Given the description of an element on the screen output the (x, y) to click on. 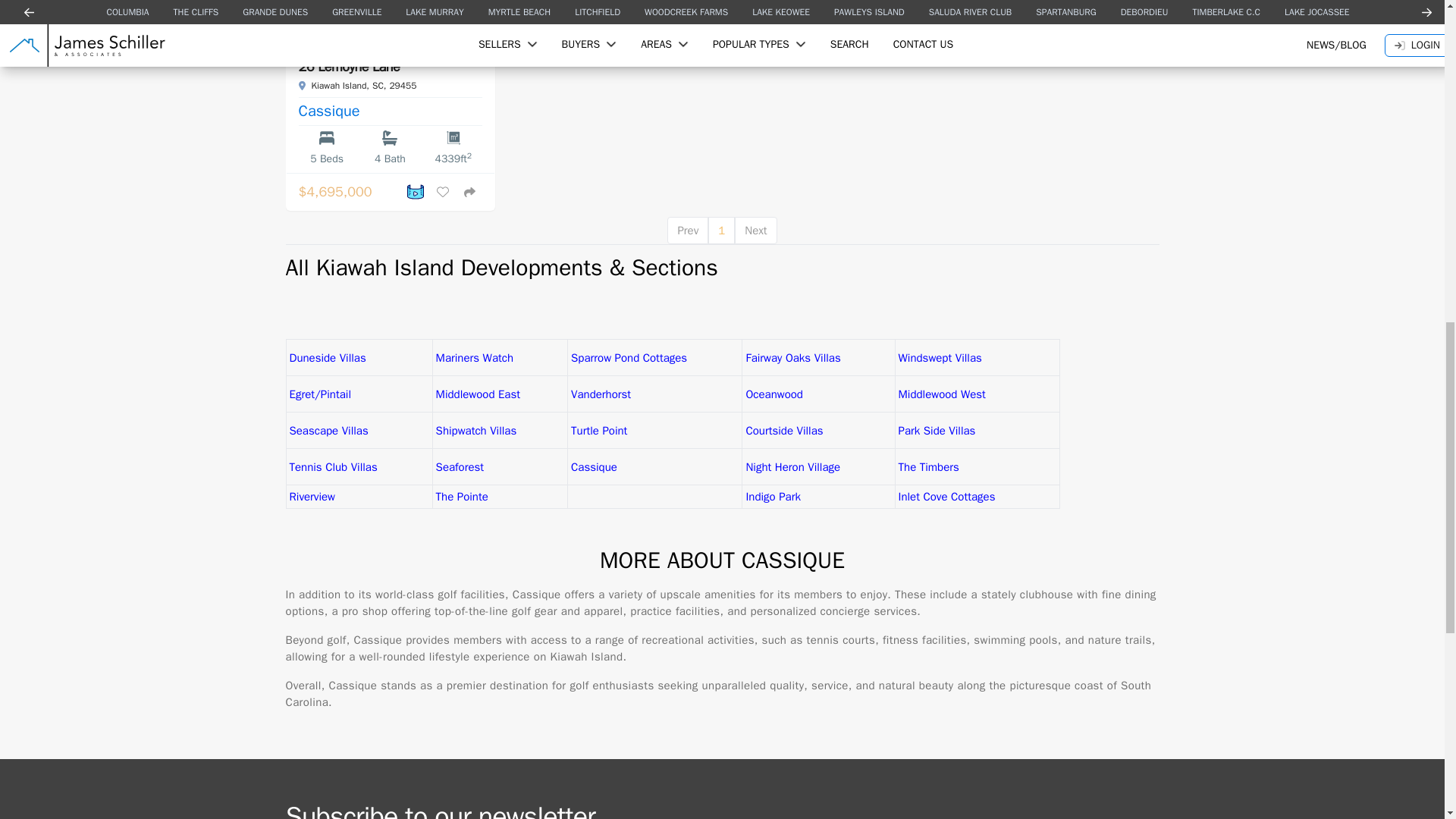
26 Lemoyne Lane (349, 66)
Cassique (328, 111)
